Given the description of an element on the screen output the (x, y) to click on. 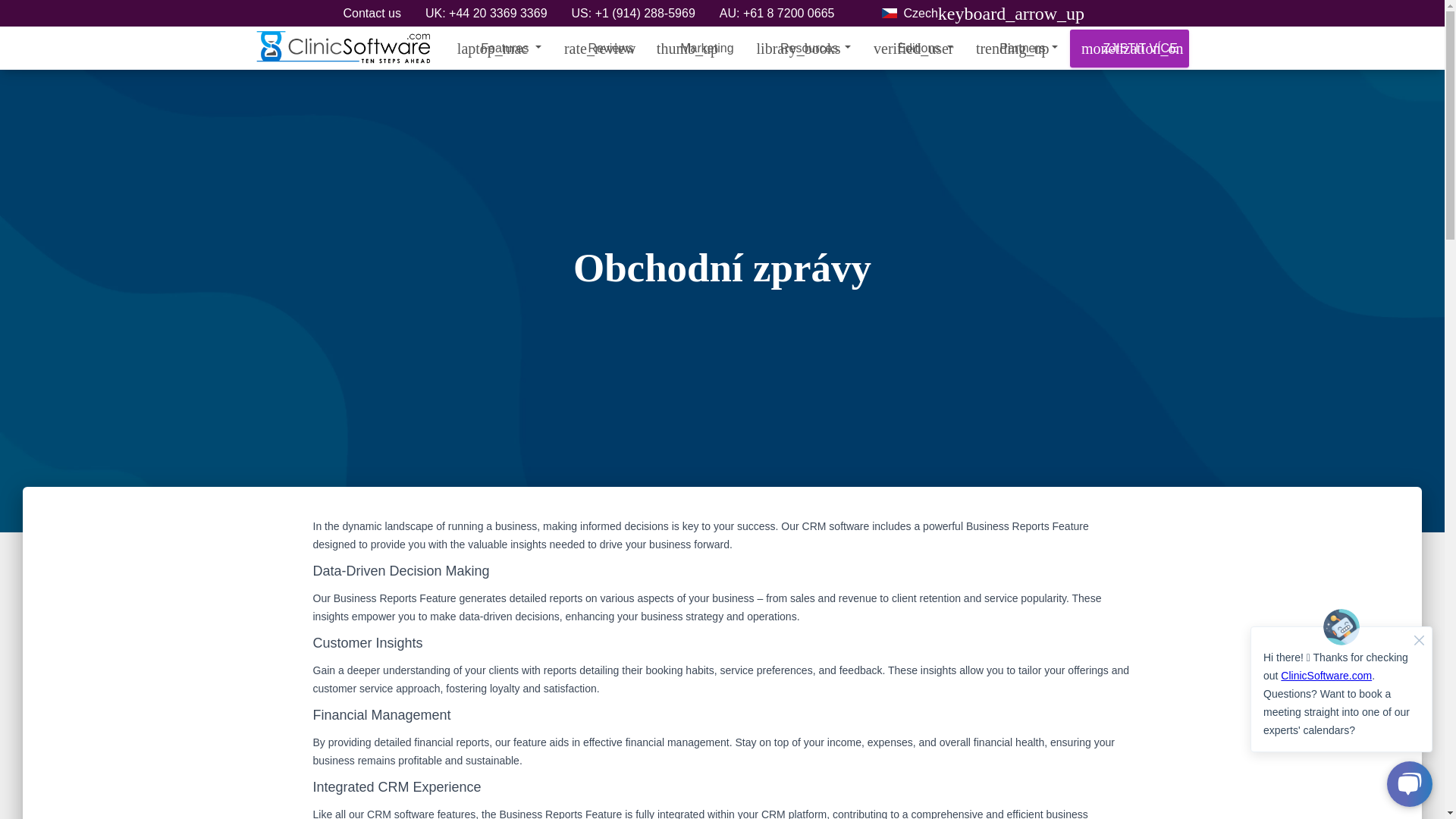
Contact us (371, 14)
